Given the description of an element on the screen output the (x, y) to click on. 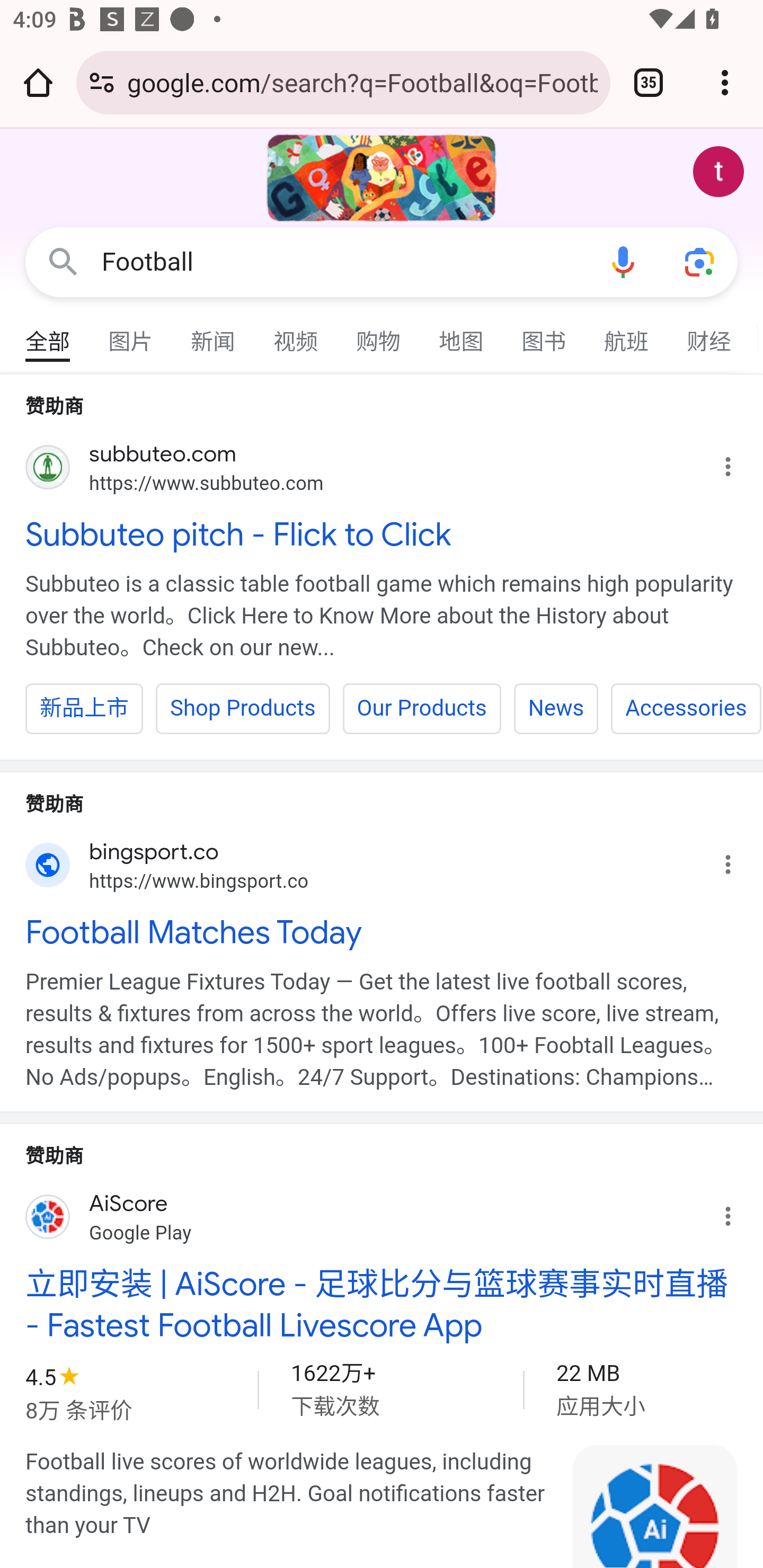
Open the home page (38, 82)
Connection is secure (101, 82)
Switch or close tabs (648, 82)
Customize and control Google Chrome (724, 82)
2024 年国际妇女节 (381, 177)
Google 账号： test appium (testappium002@gmail.com) (718, 171)
Google 搜索 (63, 262)
使用拍照功能或照片进行搜索 (699, 262)
Football (343, 261)
图片 (131, 333)
新闻 (213, 333)
视频 (296, 333)
购物 (379, 333)
地图 (461, 333)
图书 (544, 333)
航班 (627, 333)
财经 (709, 333)
为什么会显示该广告？ (738, 462)
Subbuteo pitch - Flick to Click (381, 533)
新品上市 (84, 707)
Shop Products (242, 707)
Our Products (421, 707)
News (555, 707)
Accessories (685, 707)
为什么会显示该广告？ (738, 859)
Football Matches Today (381, 932)
为什么会显示该广告？ (738, 1212)
图片来自 google.com (654, 1506)
